Given the description of an element on the screen output the (x, y) to click on. 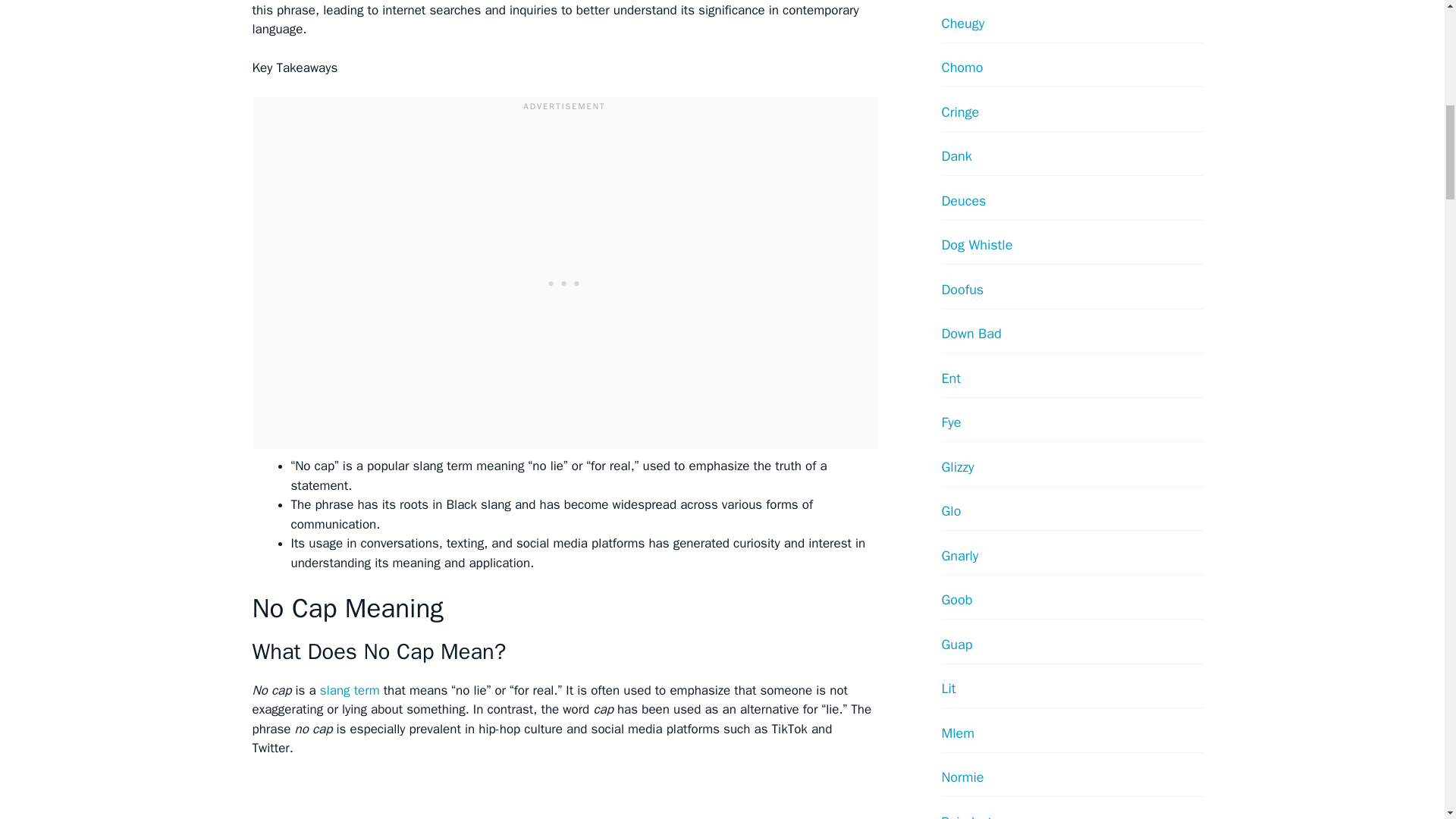
slang term (350, 690)
Scroll back to top (1406, 720)
